Given the description of an element on the screen output the (x, y) to click on. 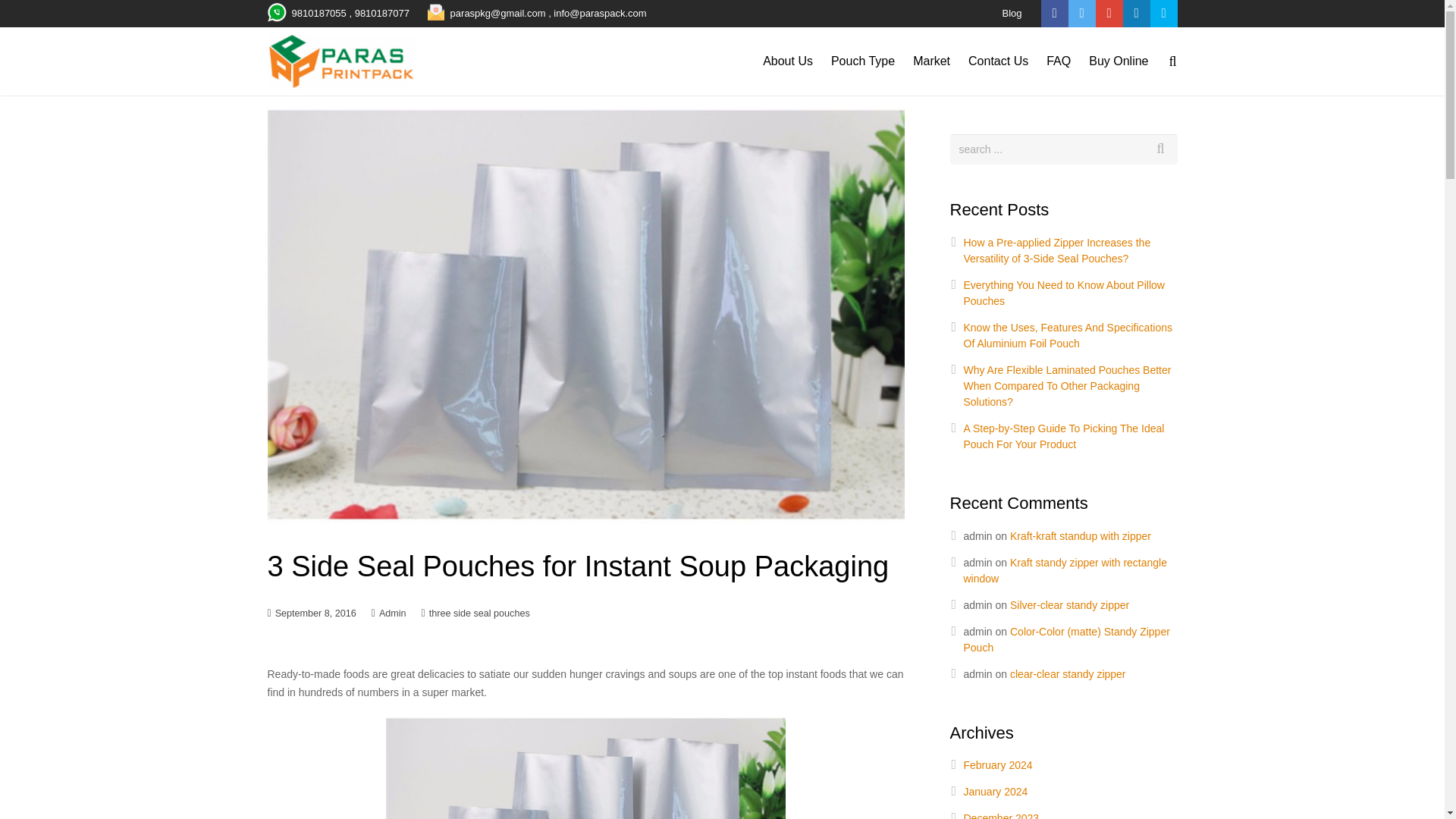
Blog (1011, 12)
9810187055 (318, 12)
Pouch Type (863, 61)
About Us (788, 61)
Market (931, 61)
9810187077 (382, 12)
